Given the description of an element on the screen output the (x, y) to click on. 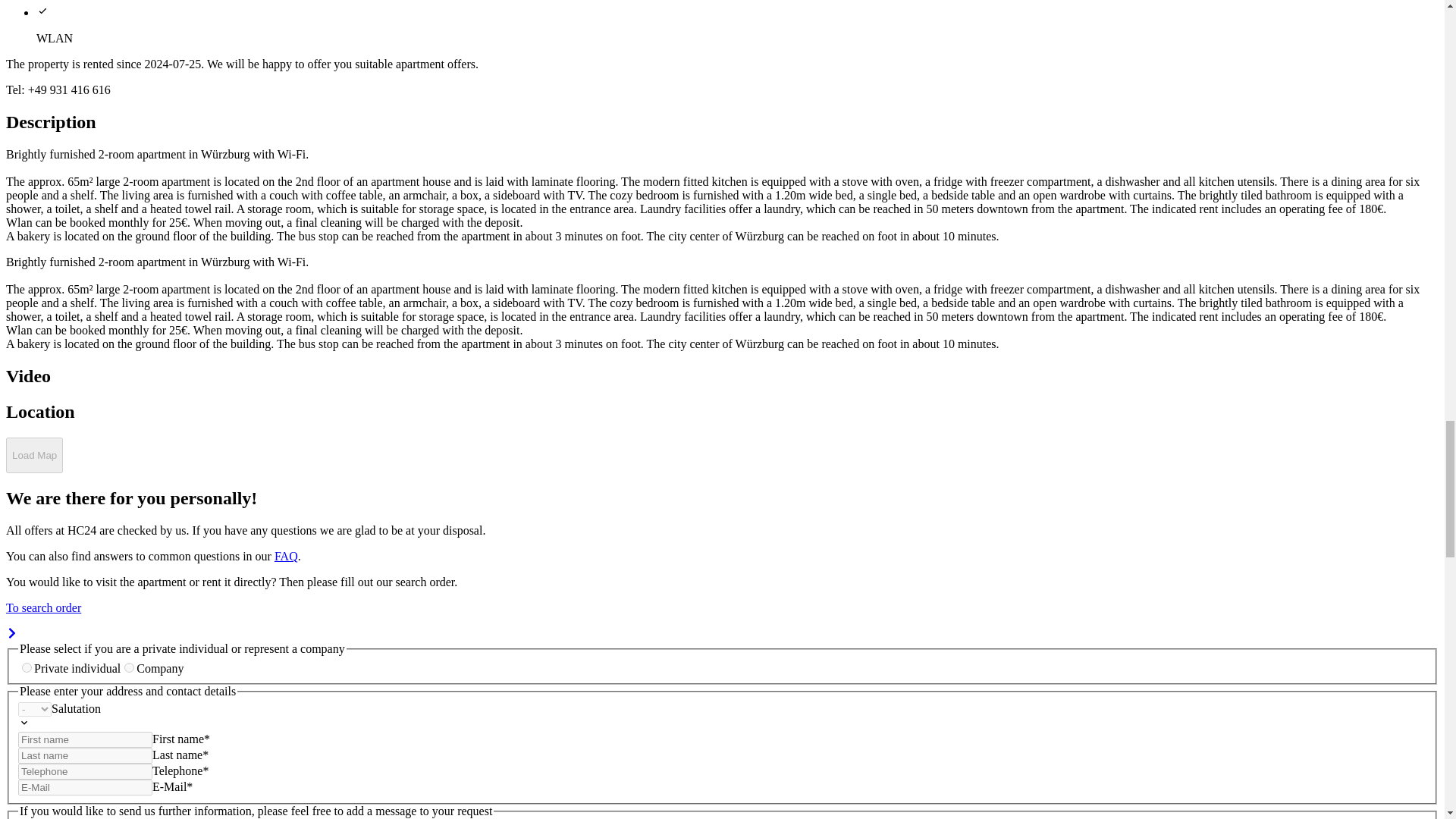
on (26, 667)
on (128, 667)
FAQ (286, 555)
Load Map (33, 455)
